Given the description of an element on the screen output the (x, y) to click on. 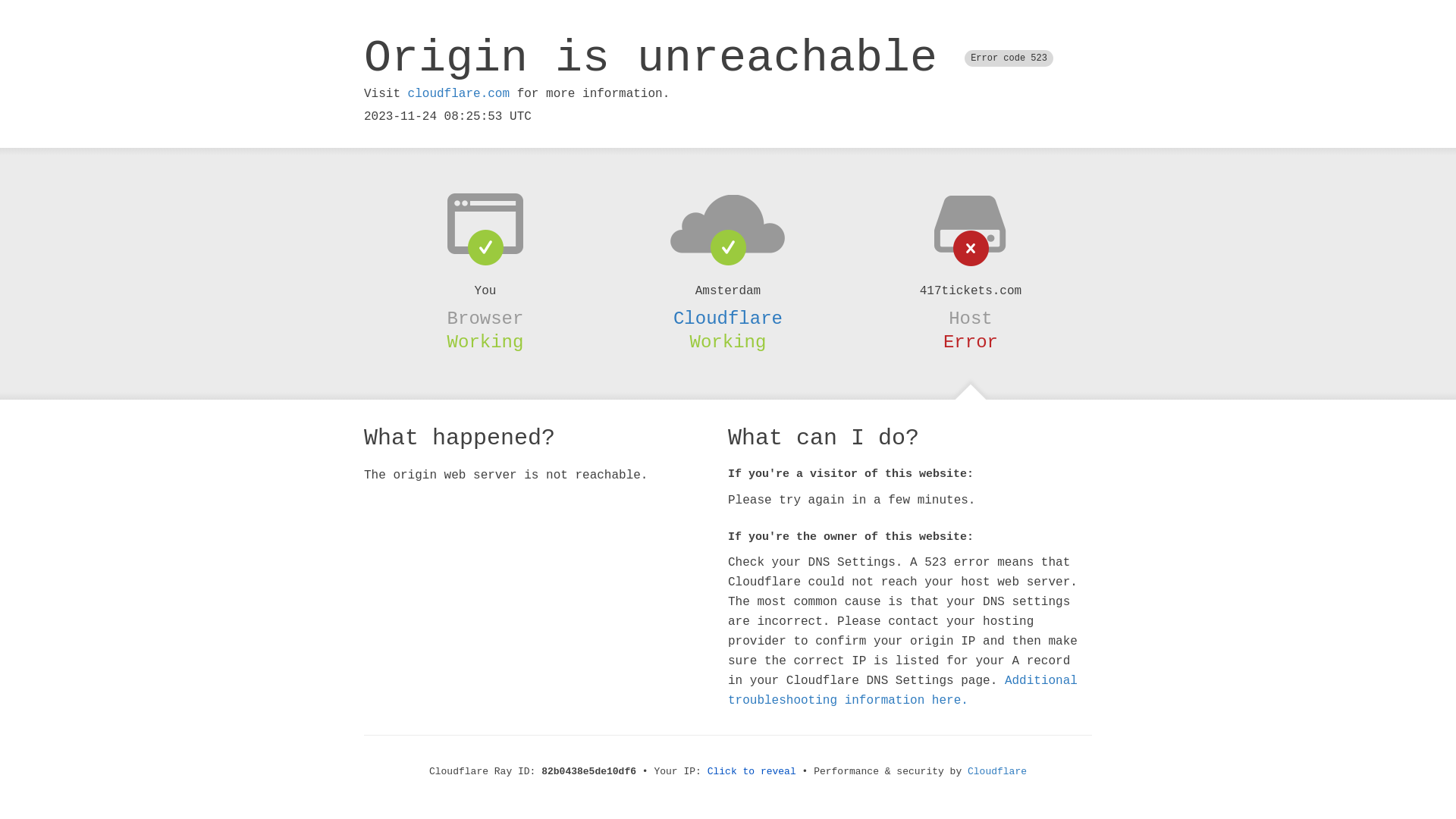
Click to reveal Element type: text (751, 771)
cloudflare.com Element type: text (458, 93)
Additional troubleshooting information here. Element type: text (902, 690)
Cloudflare Element type: text (727, 318)
Cloudflare Element type: text (996, 771)
